Given the description of an element on the screen output the (x, y) to click on. 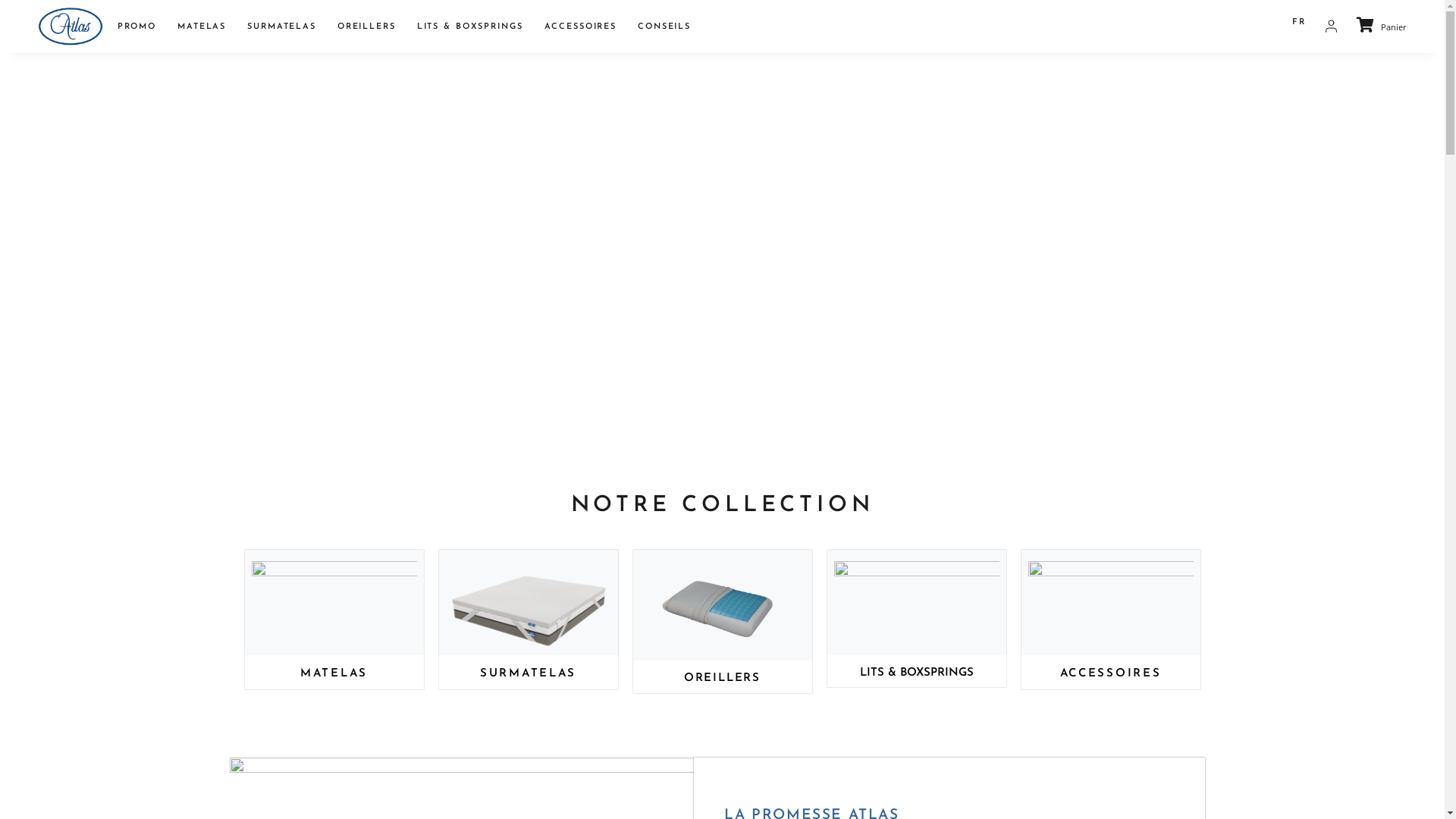
SURMATELAS Element type: text (281, 26)
MATELAS Element type: text (333, 673)
FR Element type: text (1298, 22)
Panier Element type: text (1381, 25)
LITS & BOXSPRINGS Element type: text (916, 672)
SURMATELAS Element type: text (528, 673)
ACCESSOIRES Element type: text (1110, 673)
CONSEILS Element type: text (663, 26)
PROMO Element type: text (136, 26)
OREILLERS Element type: text (722, 678)
MATELAS Element type: text (201, 26)
LITS & BOXSPRINGS Element type: text (470, 26)
ACCESSOIRES Element type: text (580, 26)
OREILLERS Element type: text (366, 26)
